Given the description of an element on the screen output the (x, y) to click on. 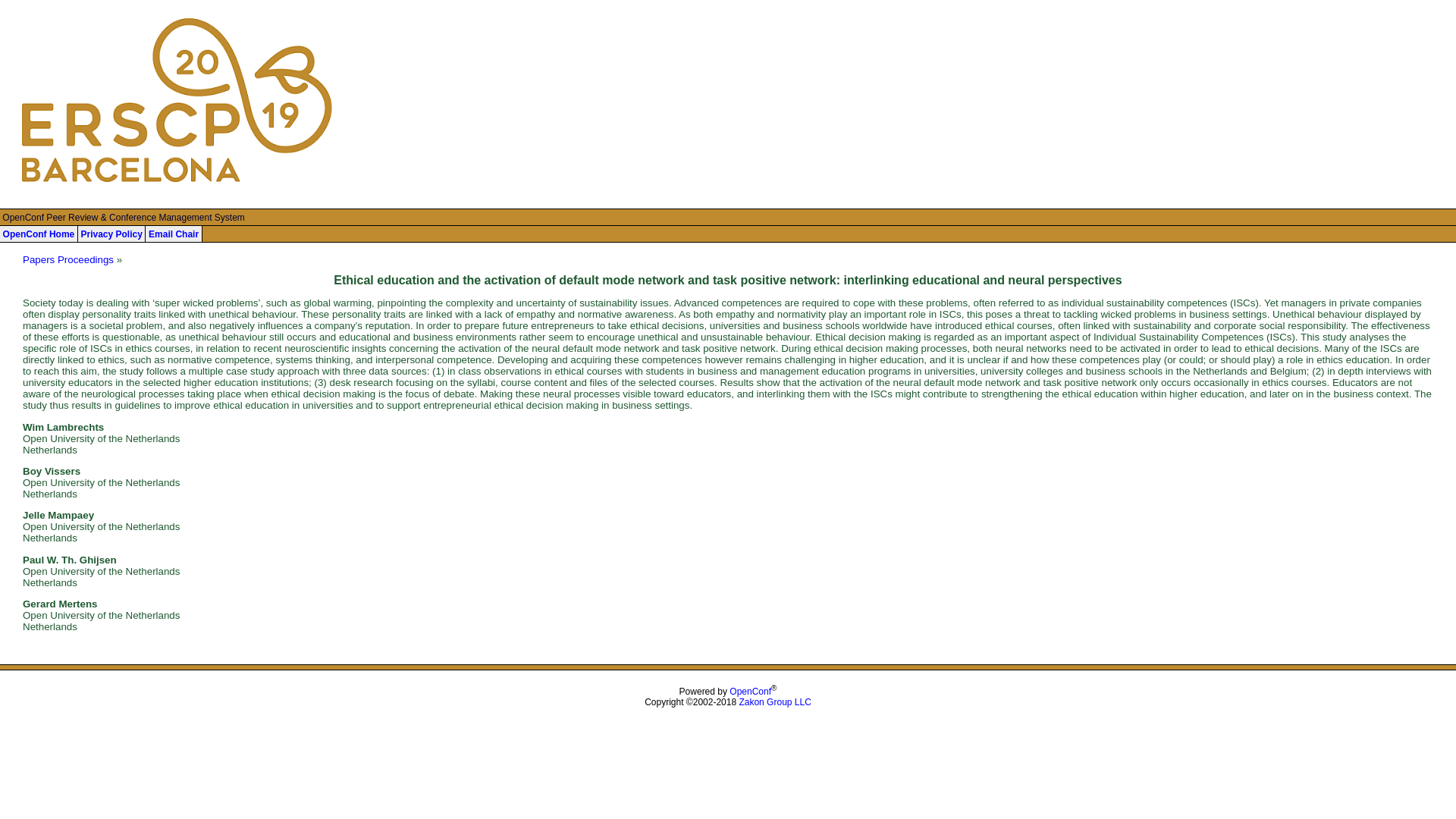
Email Chair (173, 234)
OpenConf (750, 691)
Papers Proceedings (68, 259)
OpenConf Home (38, 234)
Privacy Policy (110, 234)
